Given the description of an element on the screen output the (x, y) to click on. 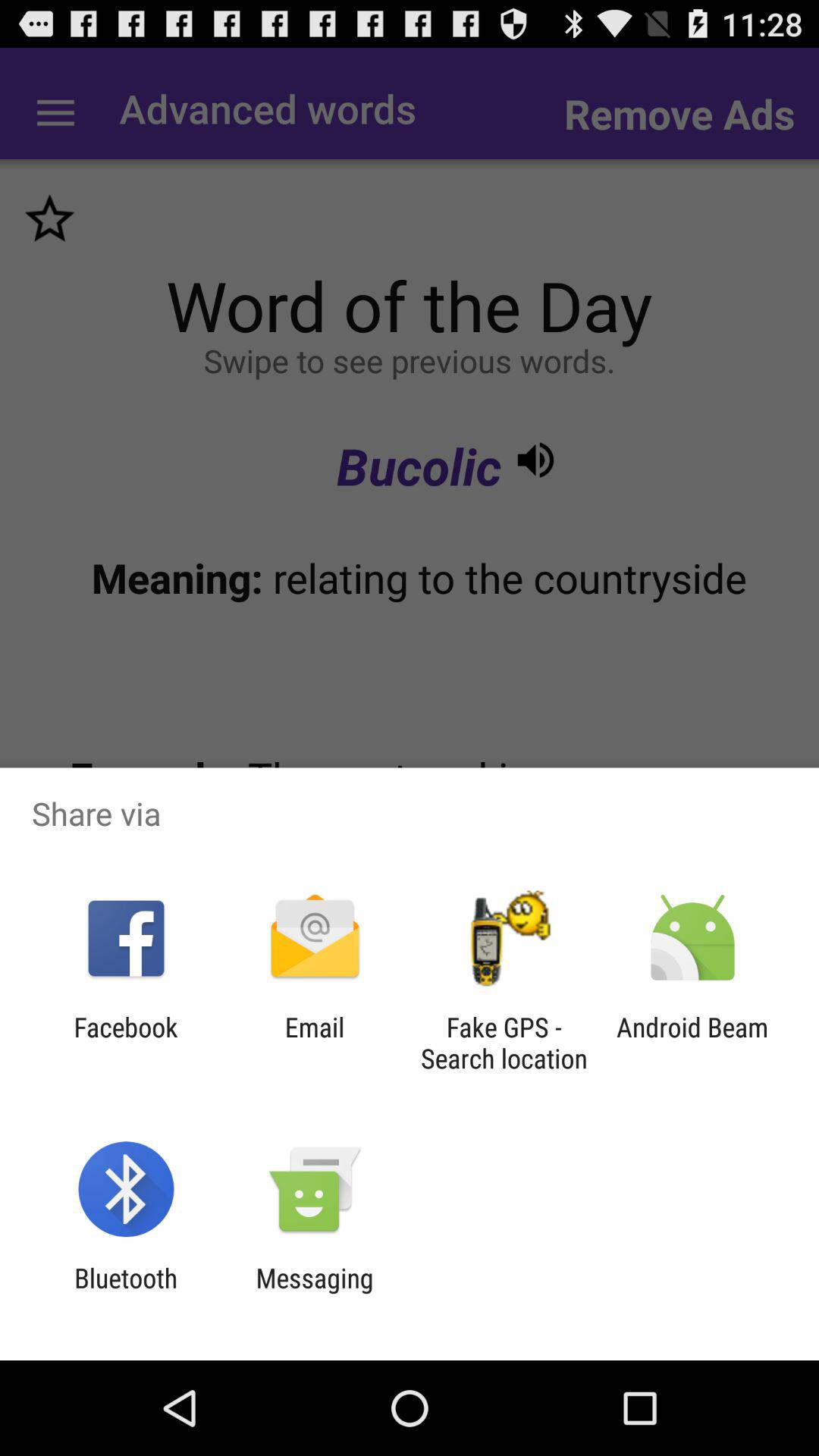
launch the item to the left of fake gps search item (314, 1042)
